Given the description of an element on the screen output the (x, y) to click on. 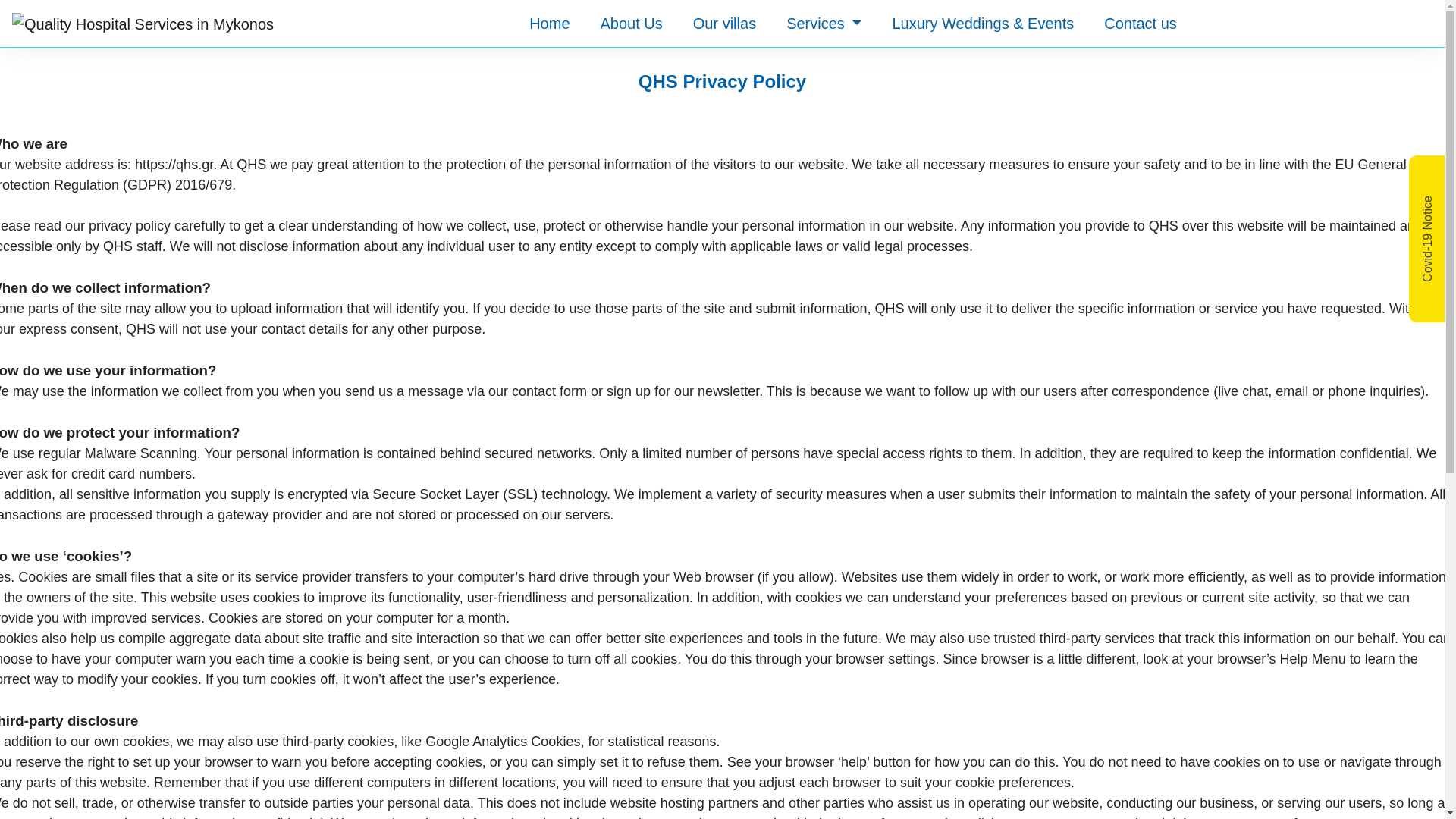
About Us (630, 23)
Home (549, 23)
Contact us (1139, 23)
About Us (630, 23)
Home (549, 23)
Contact us (1139, 23)
Services (823, 23)
Services (823, 23)
Our villas (724, 23)
Our villas (724, 23)
